Given the description of an element on the screen output the (x, y) to click on. 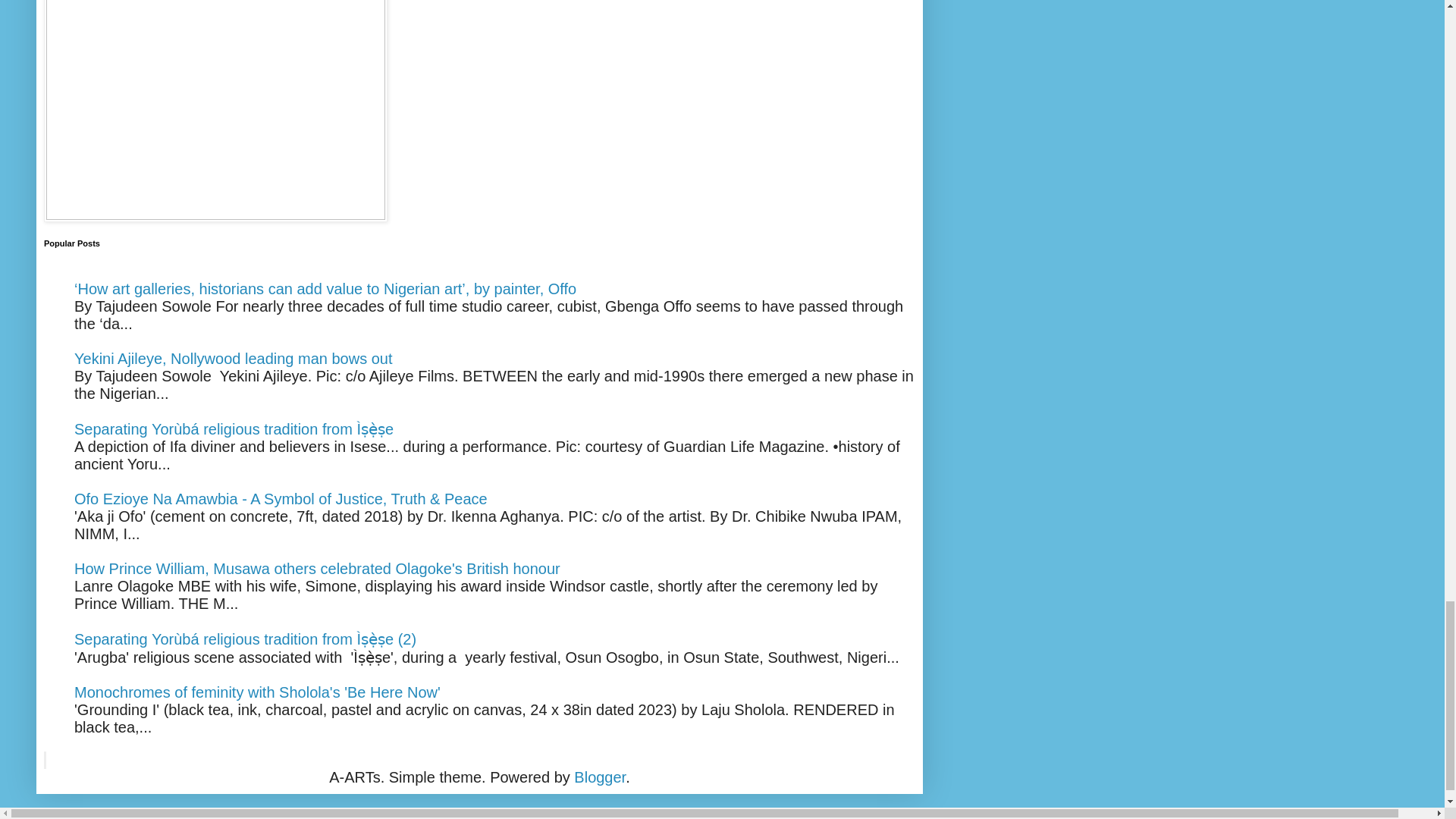
Yekini Ajileye, Nollywood leading man bows out (233, 358)
